Given the description of an element on the screen output the (x, y) to click on. 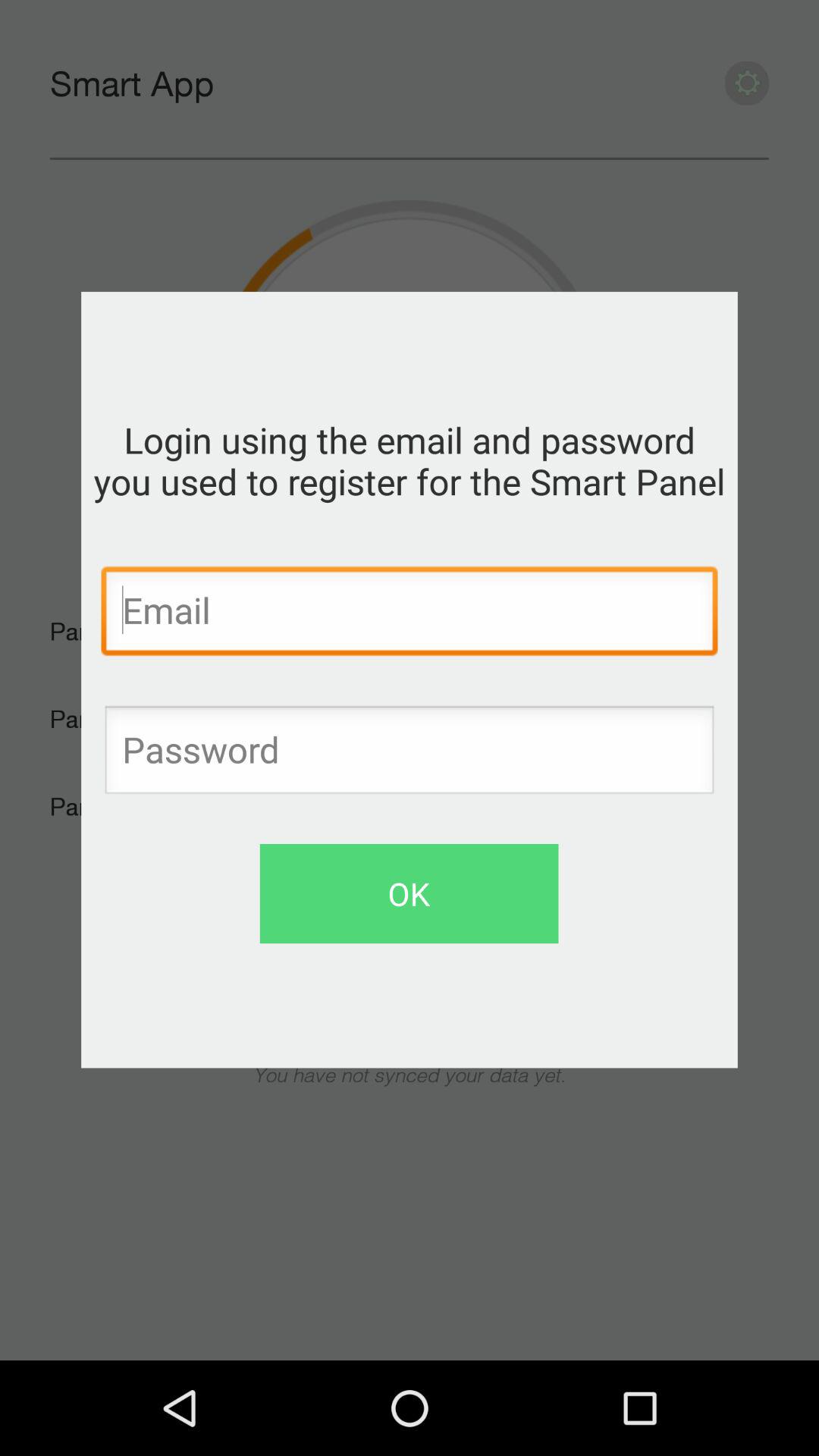
flip to the ok button (408, 893)
